Given the description of an element on the screen output the (x, y) to click on. 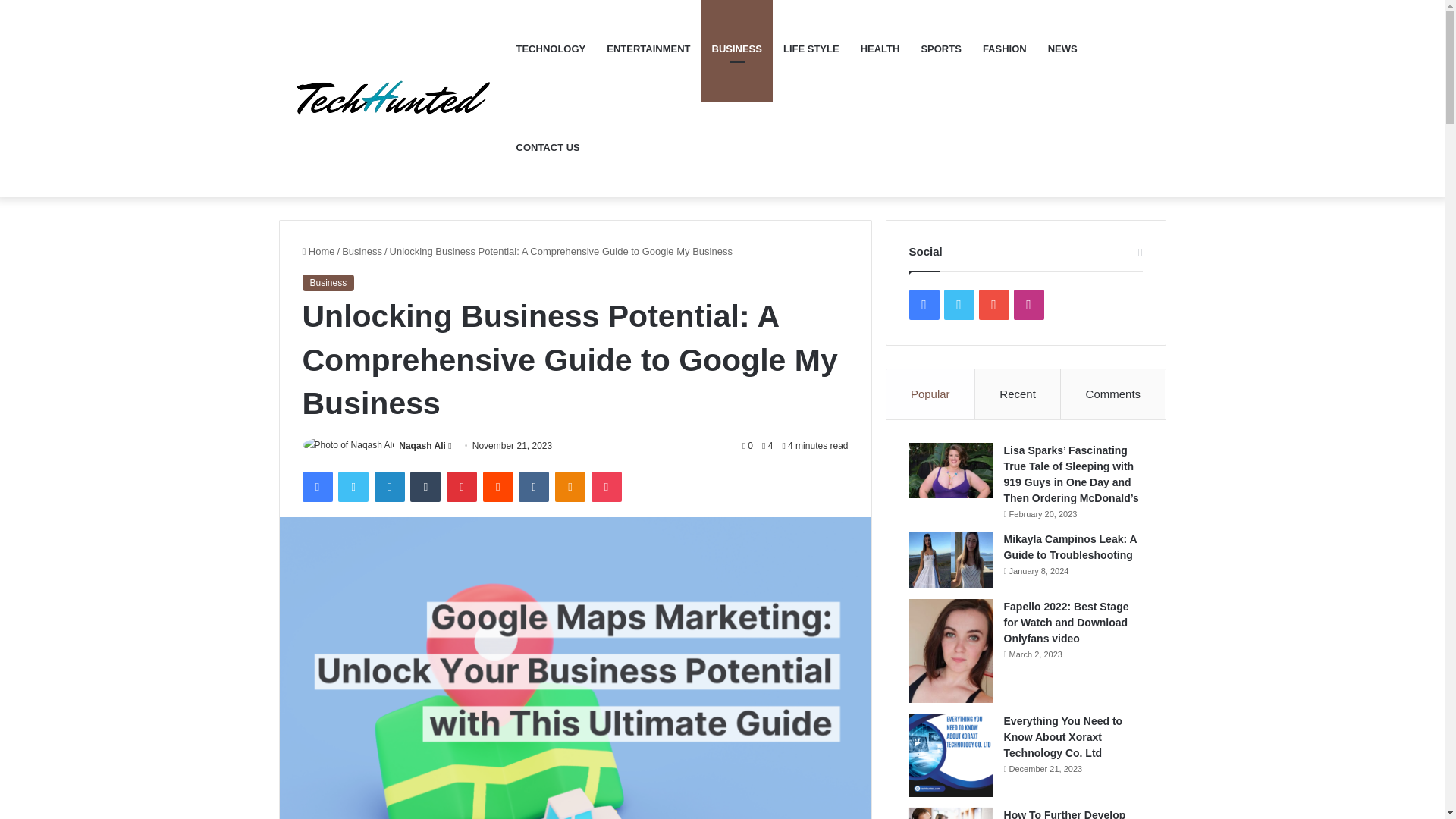
VKontakte (533, 486)
HEALTH (880, 49)
Odnoklassniki (569, 486)
LinkedIn (389, 486)
SPORTS (940, 49)
BUSINESS (735, 49)
LIFE STYLE (811, 49)
techhunted (392, 98)
Twitter (352, 486)
Odnoklassniki (569, 486)
Facebook (316, 486)
Pocket (606, 486)
Pinterest (461, 486)
LinkedIn (389, 486)
